Given the description of an element on the screen output the (x, y) to click on. 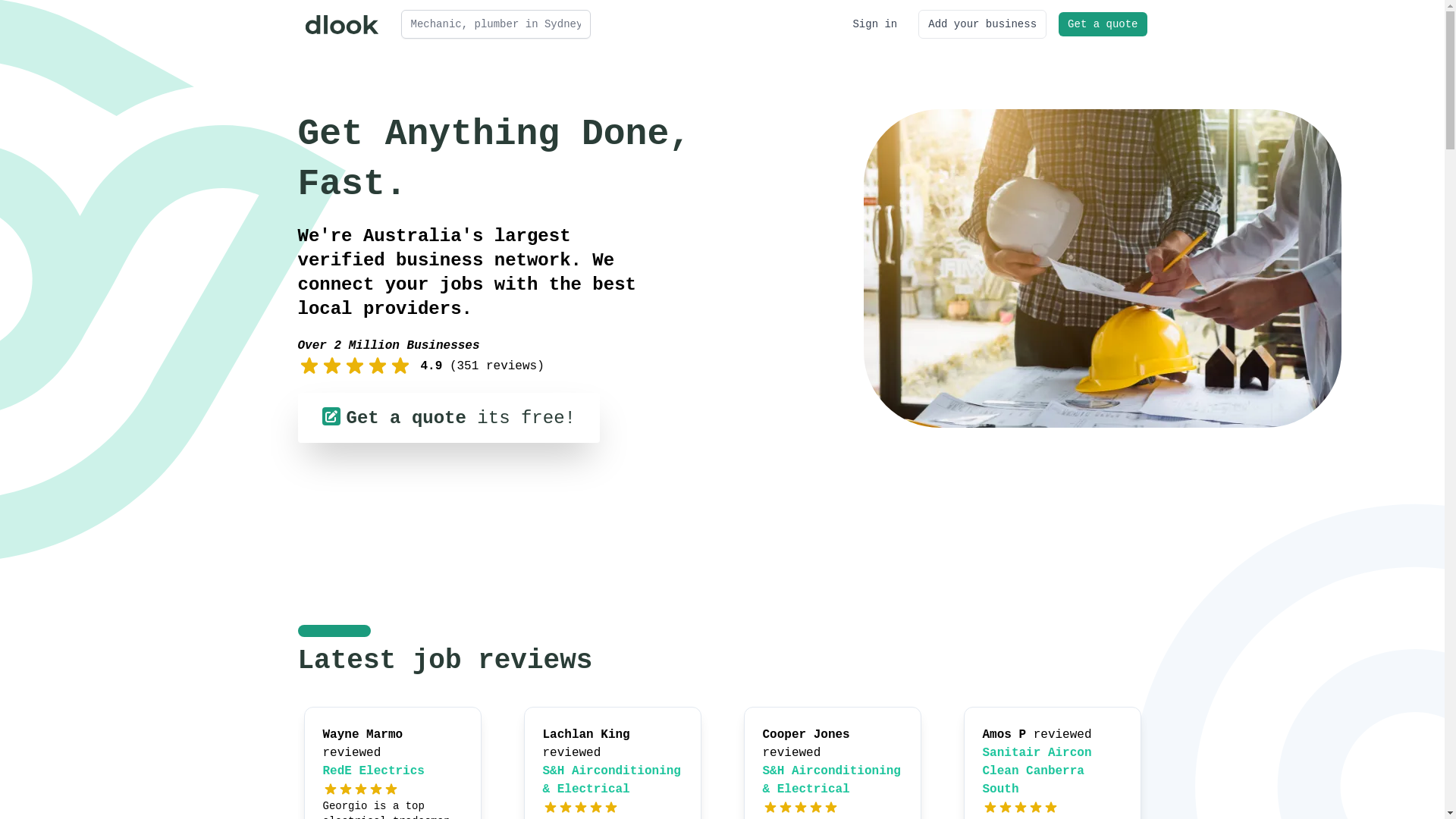
RedE Electrics Element type: text (373, 771)
Get a quote its free! Element type: text (448, 417)
Sign in Element type: text (874, 23)
Get a quote Element type: text (1102, 24)
S&H Airconditioning & Electrical Element type: text (611, 780)
S&H Airconditioning & Electrical Element type: text (831, 780)
Sanitair Aircon Clean Canberra South Element type: text (1037, 771)
Add your business Element type: text (982, 23)
